Given the description of an element on the screen output the (x, y) to click on. 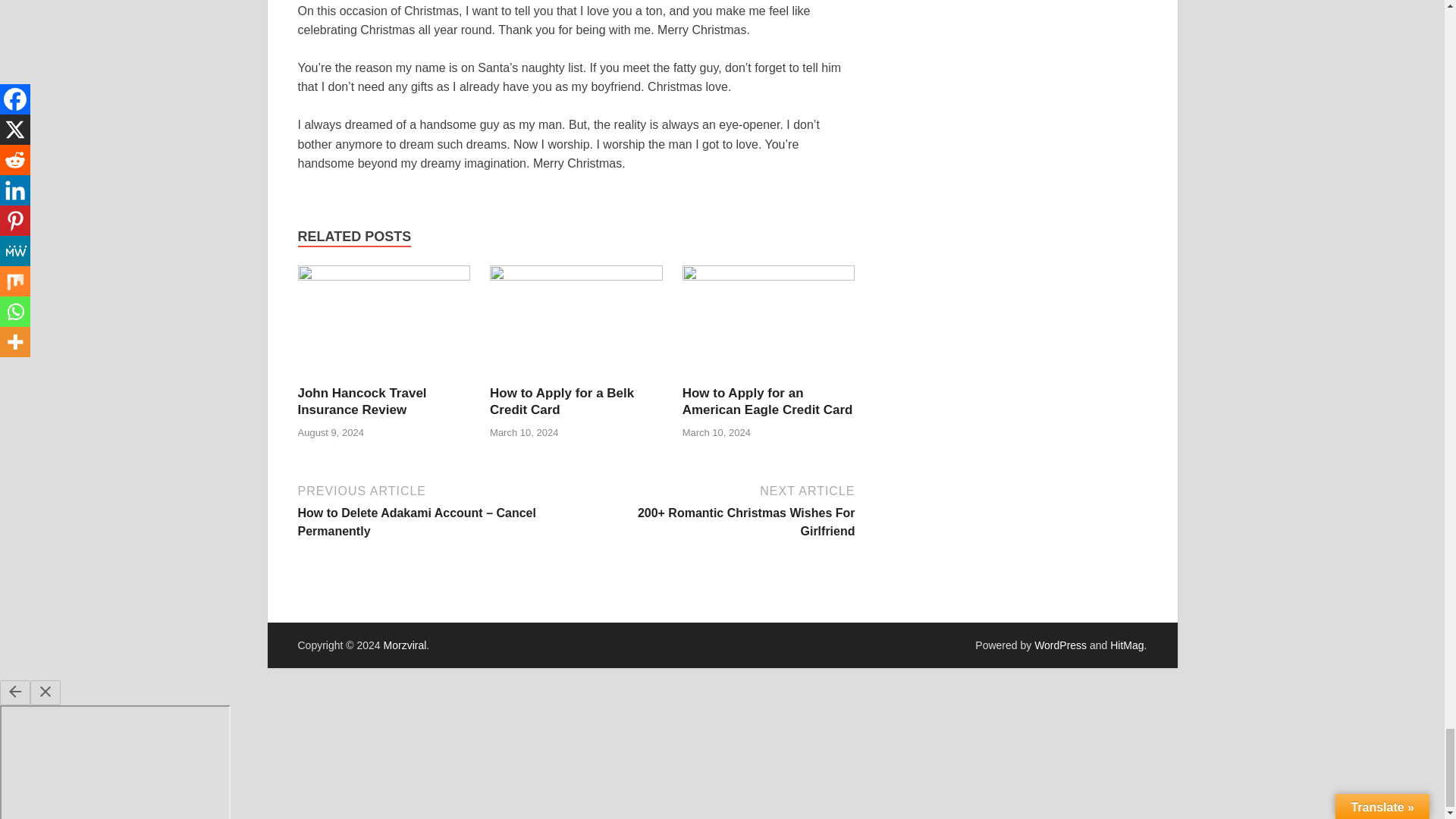
How to Apply for a Belk Credit Card (561, 400)
John Hancock Travel Insurance Review (361, 400)
How to Apply for an American Eagle Credit Card (767, 400)
